Given the description of an element on the screen output the (x, y) to click on. 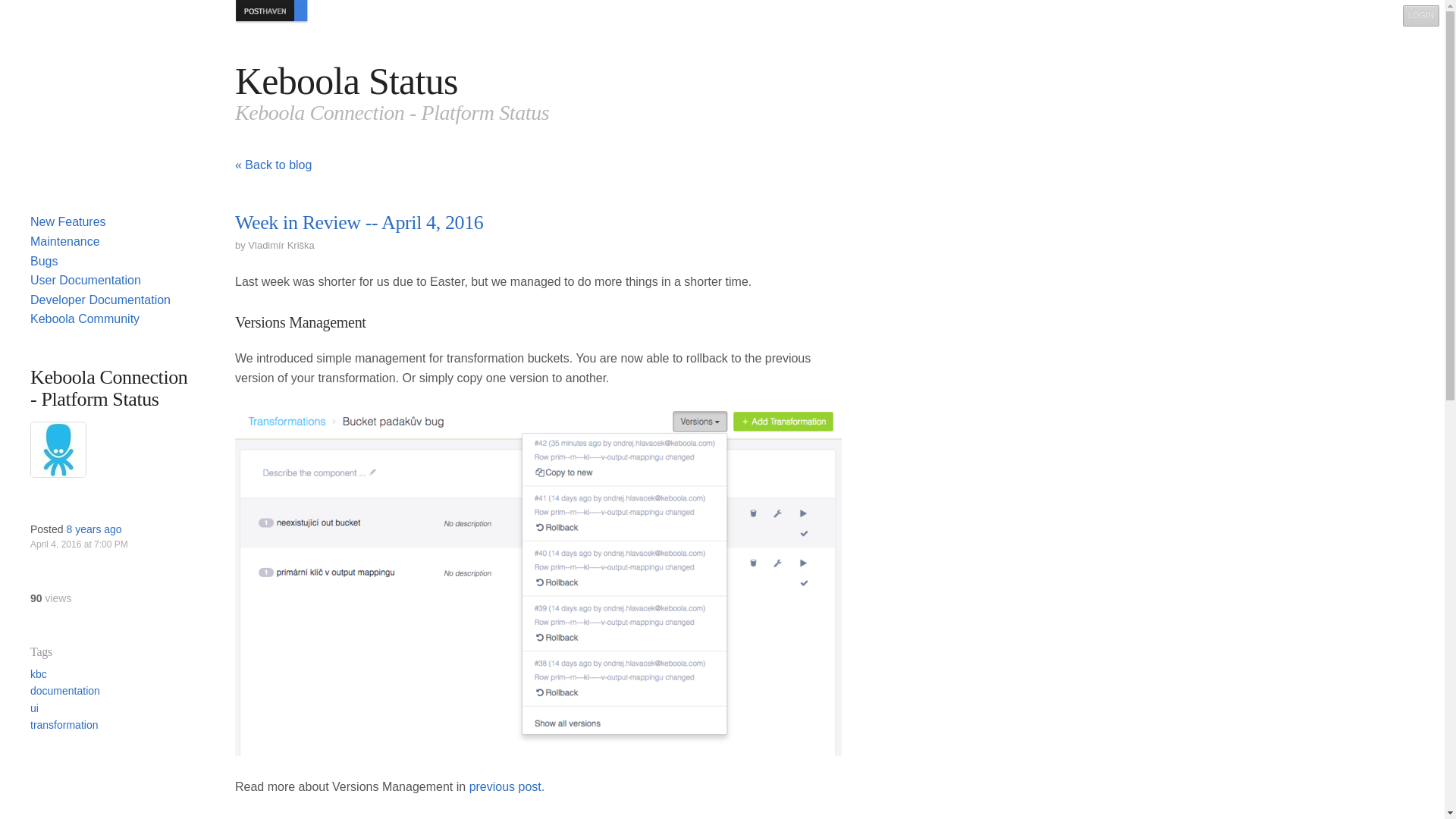
Keboola Community (84, 318)
User Documentation (85, 279)
Week in Review -- April 4, 2016 (358, 222)
Developer Documentation (100, 299)
documentation (65, 690)
previous post. (506, 786)
8 years ago (92, 529)
LOGIN (1421, 15)
Keboola Status (346, 80)
New Features (68, 221)
Maintenance (65, 241)
kbc (38, 674)
Bugs (44, 260)
transformation (63, 725)
